Given the description of an element on the screen output the (x, y) to click on. 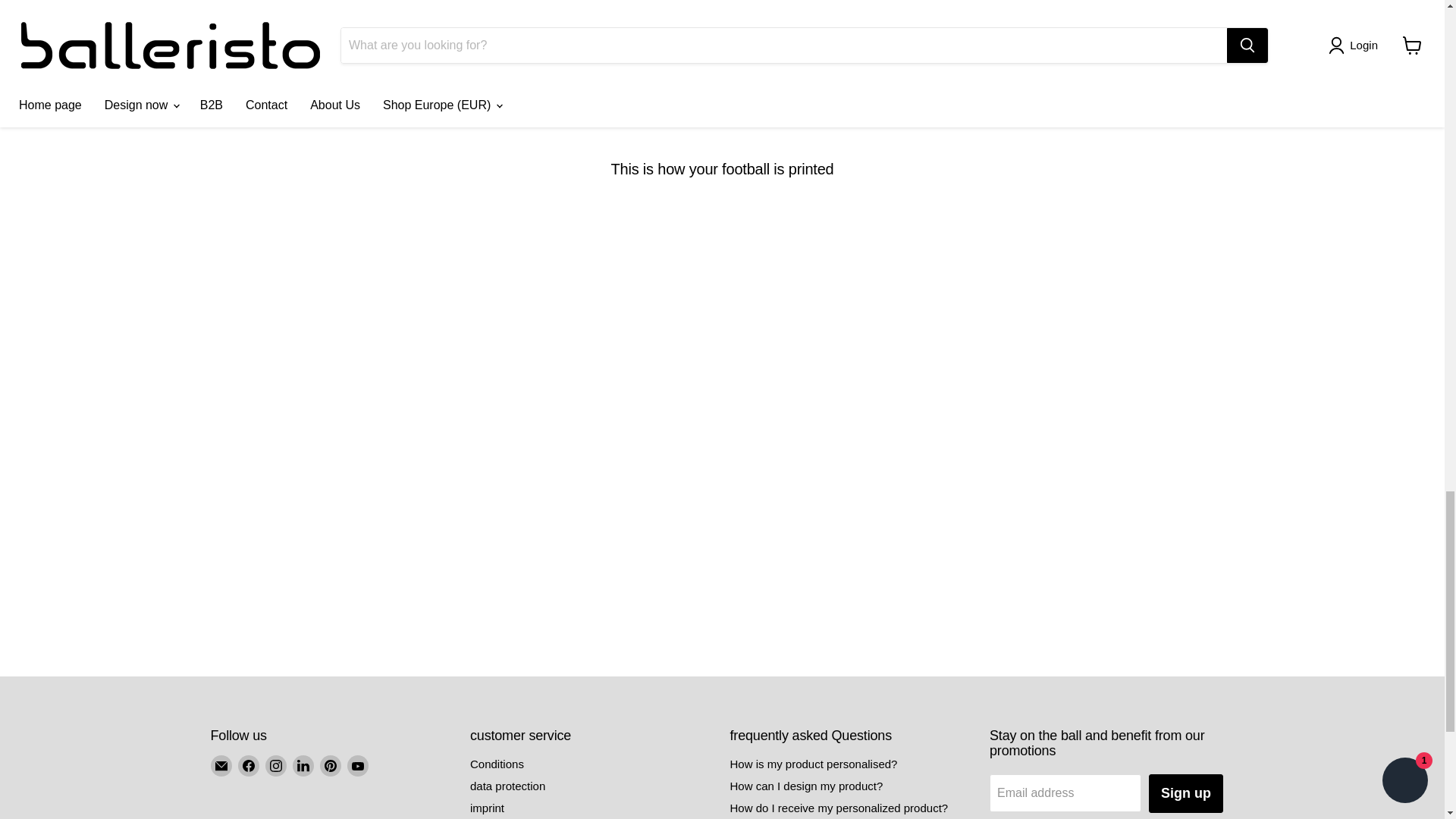
Pinterest (330, 765)
Facebook (248, 765)
Email (221, 765)
YouTube (357, 765)
Instagram (275, 765)
LinkedIn (303, 765)
